Given the description of an element on the screen output the (x, y) to click on. 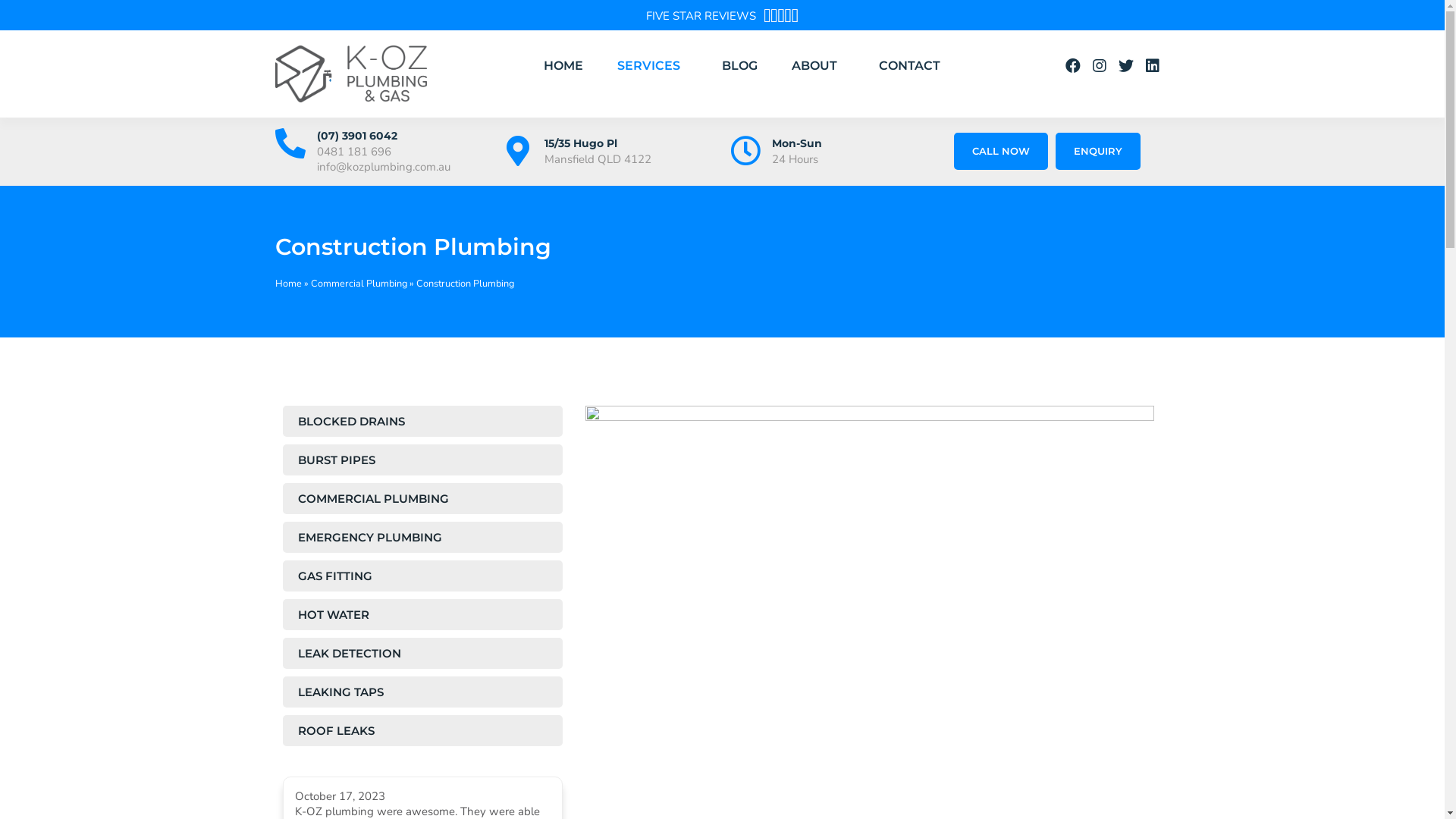
ROOF LEAKS Element type: text (422, 730)
LEAK DETECTION Element type: text (422, 652)
HOT WATER Element type: text (422, 614)
CONTACT Element type: text (909, 65)
Commercial Plumbing Element type: text (358, 283)
BURST PIPES Element type: text (422, 459)
GAS FITTING Element type: text (422, 575)
EMERGENCY PLUMBING Element type: text (422, 536)
FIVE STAR REVIEWS Element type: text (701, 14)
ENQUIRY Element type: text (1116, 82)
ABOUT Element type: text (818, 65)
Instagram Element type: text (1099, 65)
CONTACT Element type: text (841, 82)
0481 181 696 Element type: text (353, 151)
(07) 3901 6042 Element type: text (356, 135)
HOME Element type: text (563, 65)
Home Element type: text (287, 283)
ABOUT Element type: text (749, 82)
SERVICES Element type: text (652, 65)
HOME Element type: text (495, 82)
CALL NOW Element type: text (1019, 82)
CALL NOW Element type: text (1000, 150)
BLOG Element type: text (739, 65)
info@kozplumbing.com.au Element type: text (383, 166)
SERVICES Element type: text (583, 82)
BLOG Element type: text (671, 82)
Linkedin Element type: text (1152, 65)
Twitter Element type: text (1125, 65)
ENQUIRY Element type: text (1097, 150)
LEAKING TAPS Element type: text (422, 691)
COMMERCIAL PLUMBING Element type: text (422, 498)
BLOCKED DRAINS Element type: text (422, 420)
Facebook Element type: text (1072, 65)
